Given the description of an element on the screen output the (x, y) to click on. 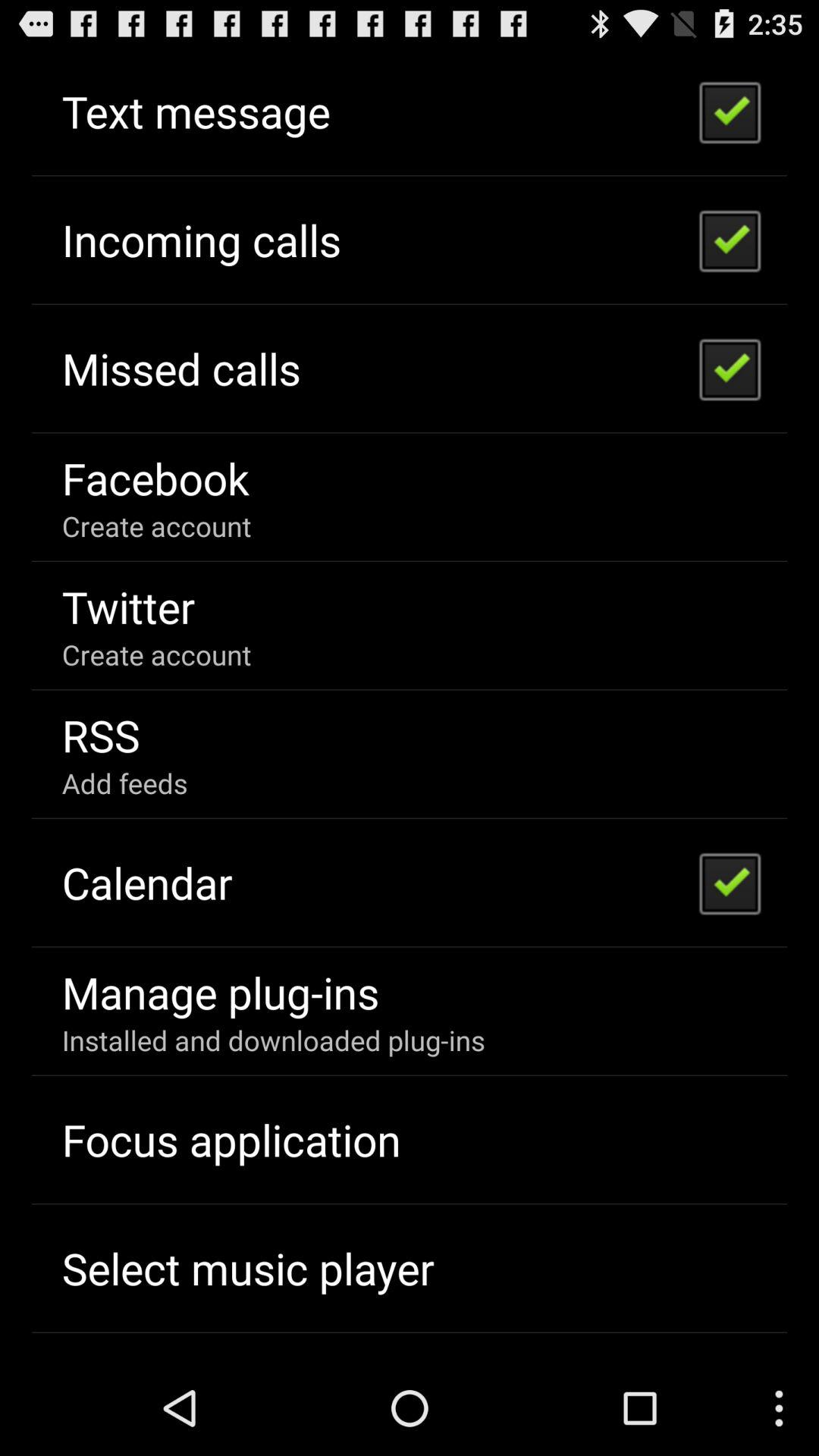
scroll until focus application icon (230, 1139)
